Given the description of an element on the screen output the (x, y) to click on. 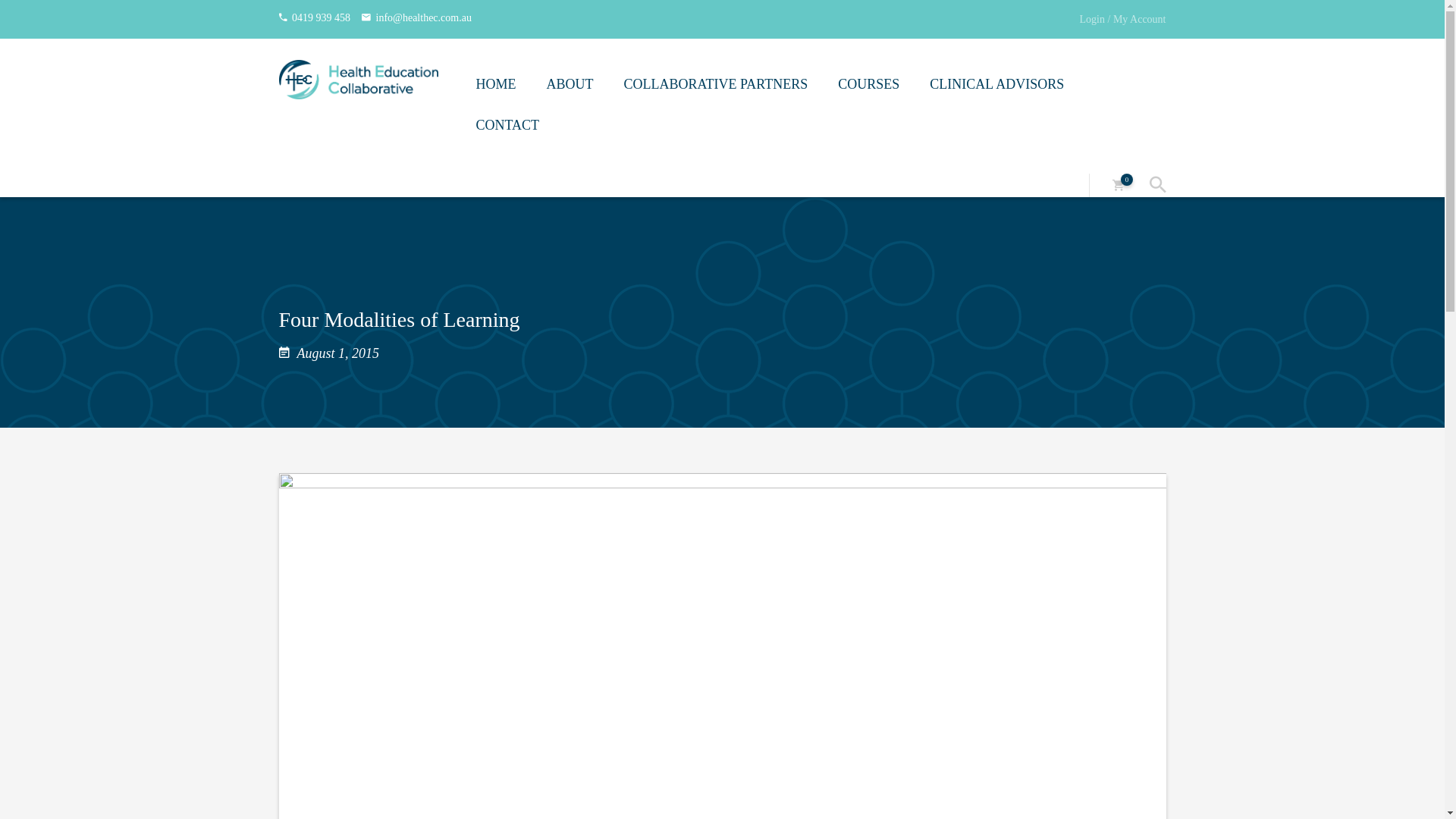
CONTACT Element type: text (508, 126)
info@healthec.com.au Element type: text (423, 17)
CLINICAL ADVISORS Element type: text (996, 85)
COLLABORATIVE PARTNERS Element type: text (715, 85)
ABOUT Element type: text (569, 85)
0 Element type: text (1117, 185)
HOME Element type: text (496, 85)
Login / My Account Element type: text (1122, 19)
COURSES Element type: text (868, 85)
0419 939 458 Element type: text (320, 17)
